Given the description of an element on the screen output the (x, y) to click on. 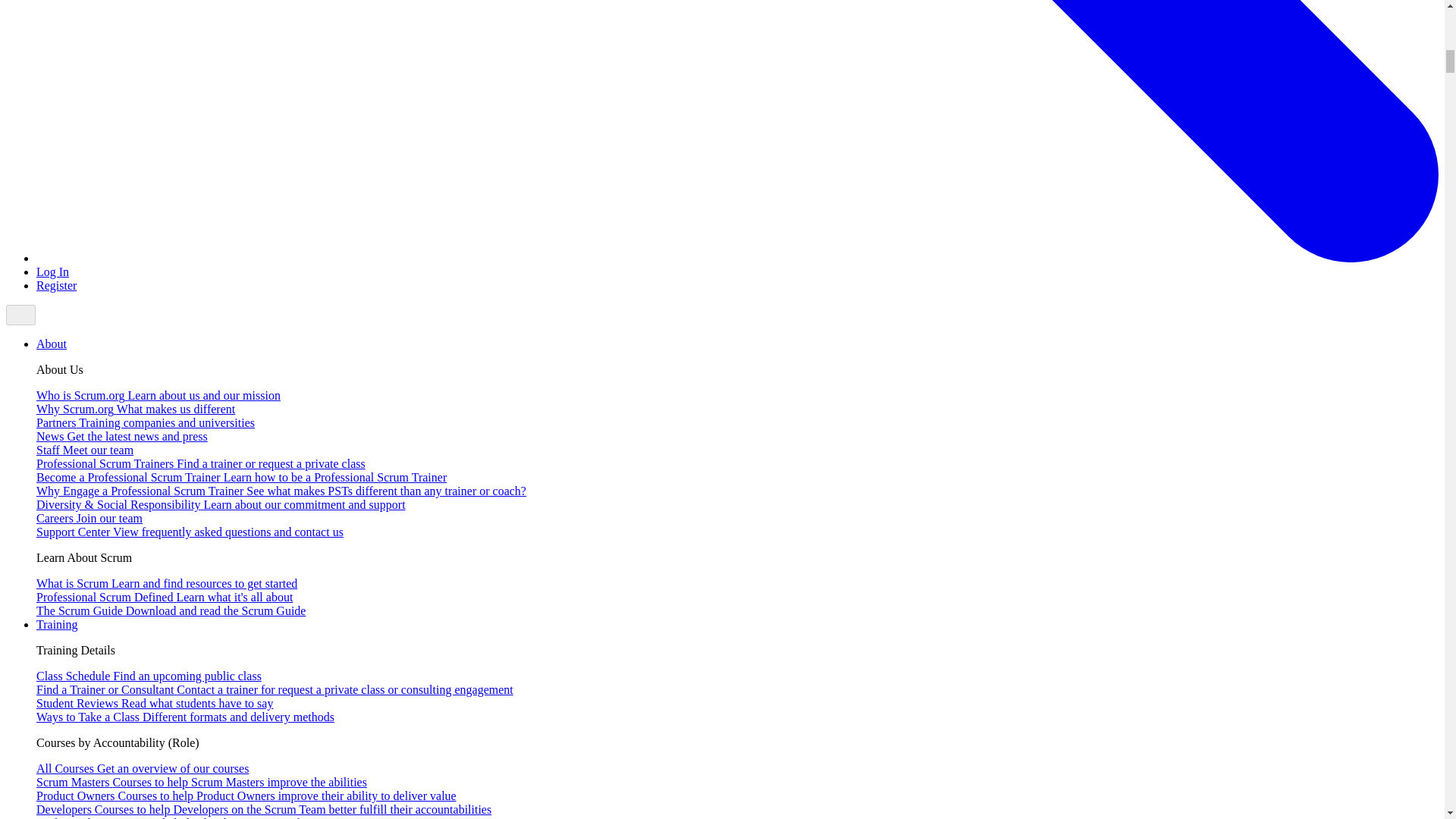
What is Scrum Learn and find resources to get started (166, 583)
Class Schedule Find an upcoming public class (149, 675)
Student Reviews Read what students have to say (154, 703)
Log In (52, 271)
News Get the latest news and press (122, 436)
All Courses Get an overview of our courses (142, 768)
Partners Training companies and universities (145, 422)
